Given the description of an element on the screen output the (x, y) to click on. 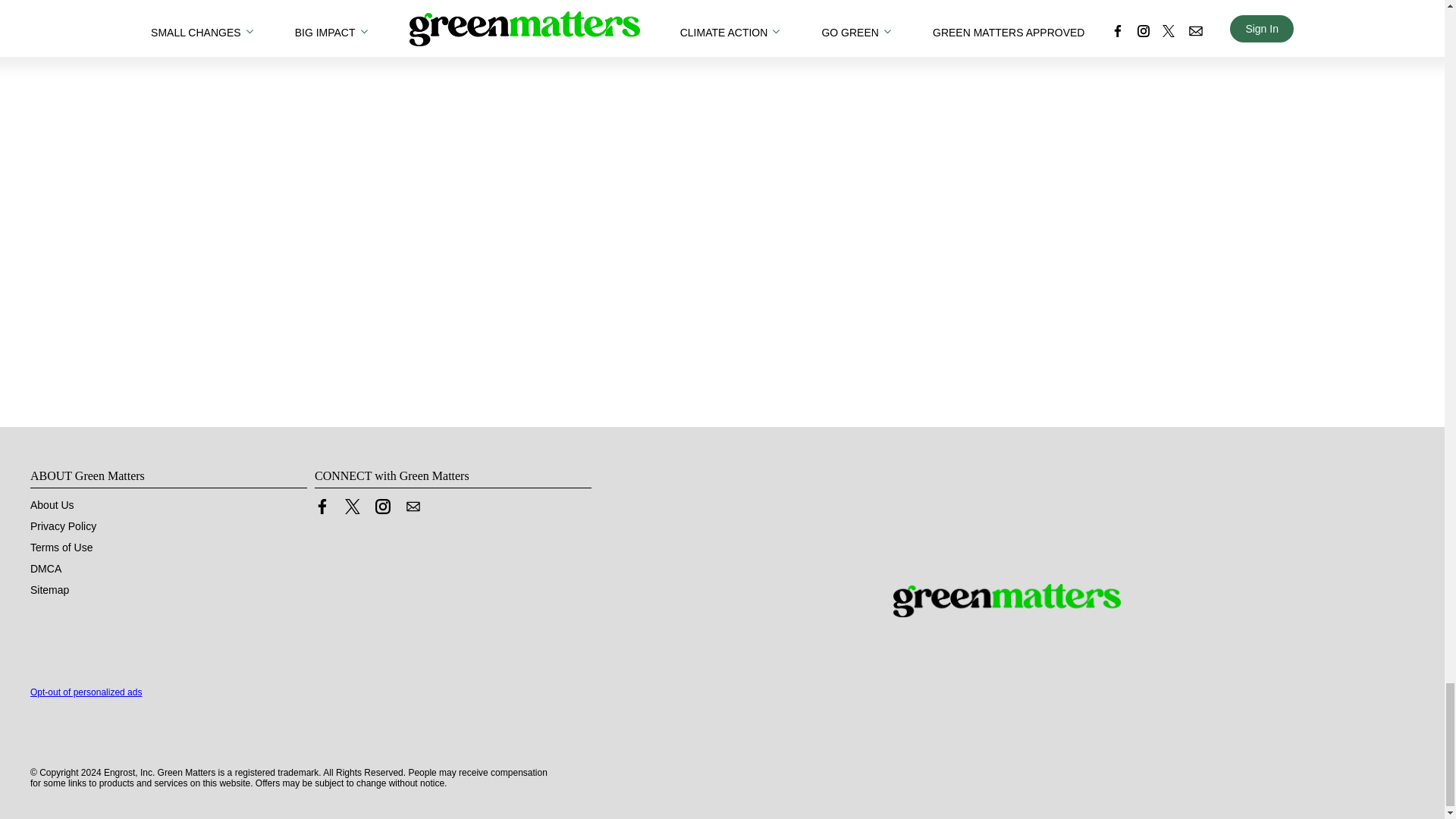
Contact us by Email (413, 506)
DMCA (45, 568)
Sitemap (49, 589)
Link to Instagram (382, 506)
Terms of Use (61, 547)
About Us (52, 504)
Link to Facebook (322, 506)
Link to X (352, 506)
Privacy Policy (63, 526)
